Given the description of an element on the screen output the (x, y) to click on. 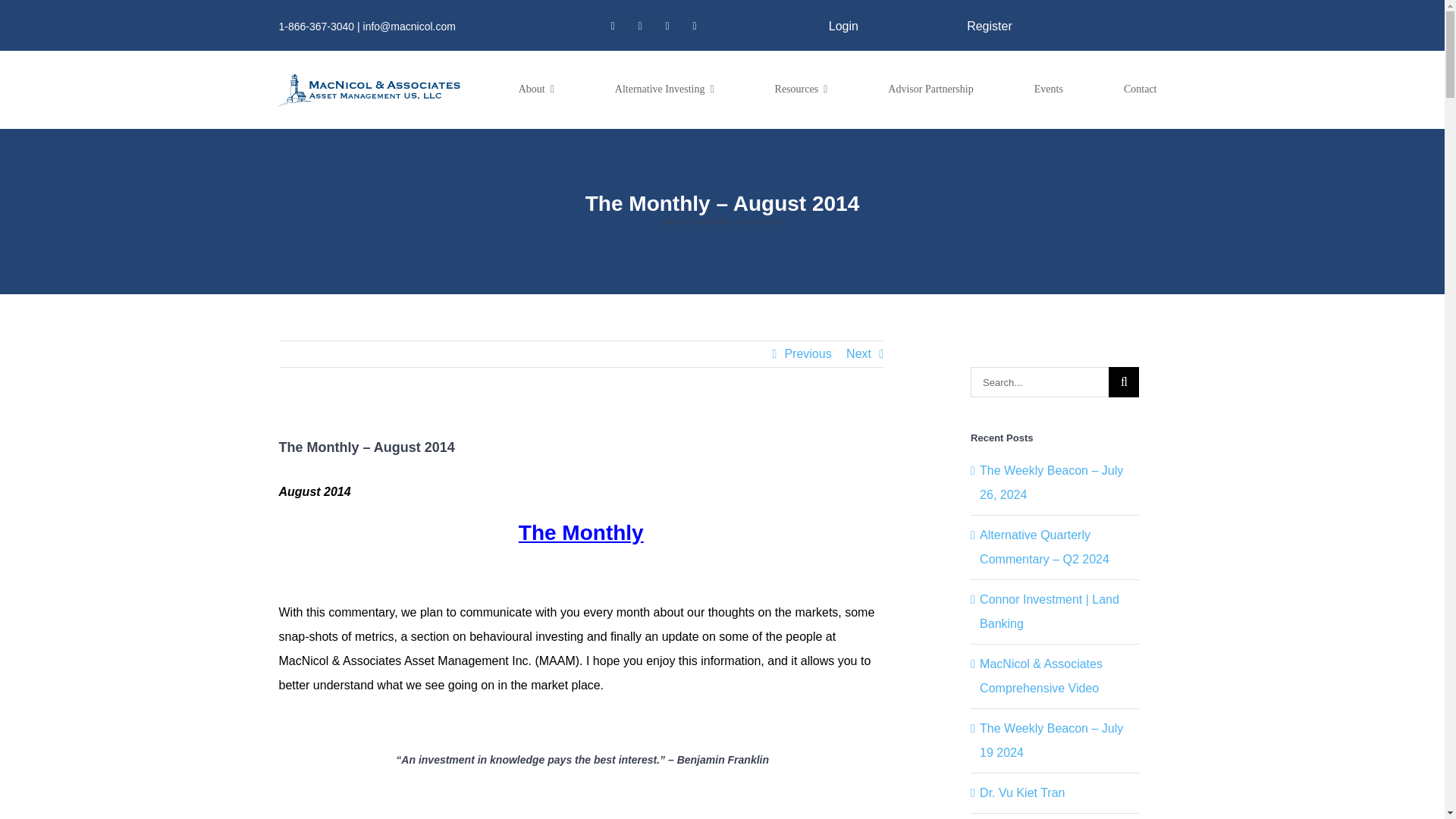
Twitter (612, 26)
Register (988, 26)
Login (843, 26)
1-866-367-3040 (315, 25)
Events (1048, 89)
Facebook (694, 26)
Resources (801, 89)
Advisor Partnership (930, 89)
About (536, 89)
Instagram (639, 26)
LinkedIn (667, 26)
Alternative Investing (664, 89)
